Given the description of an element on the screen output the (x, y) to click on. 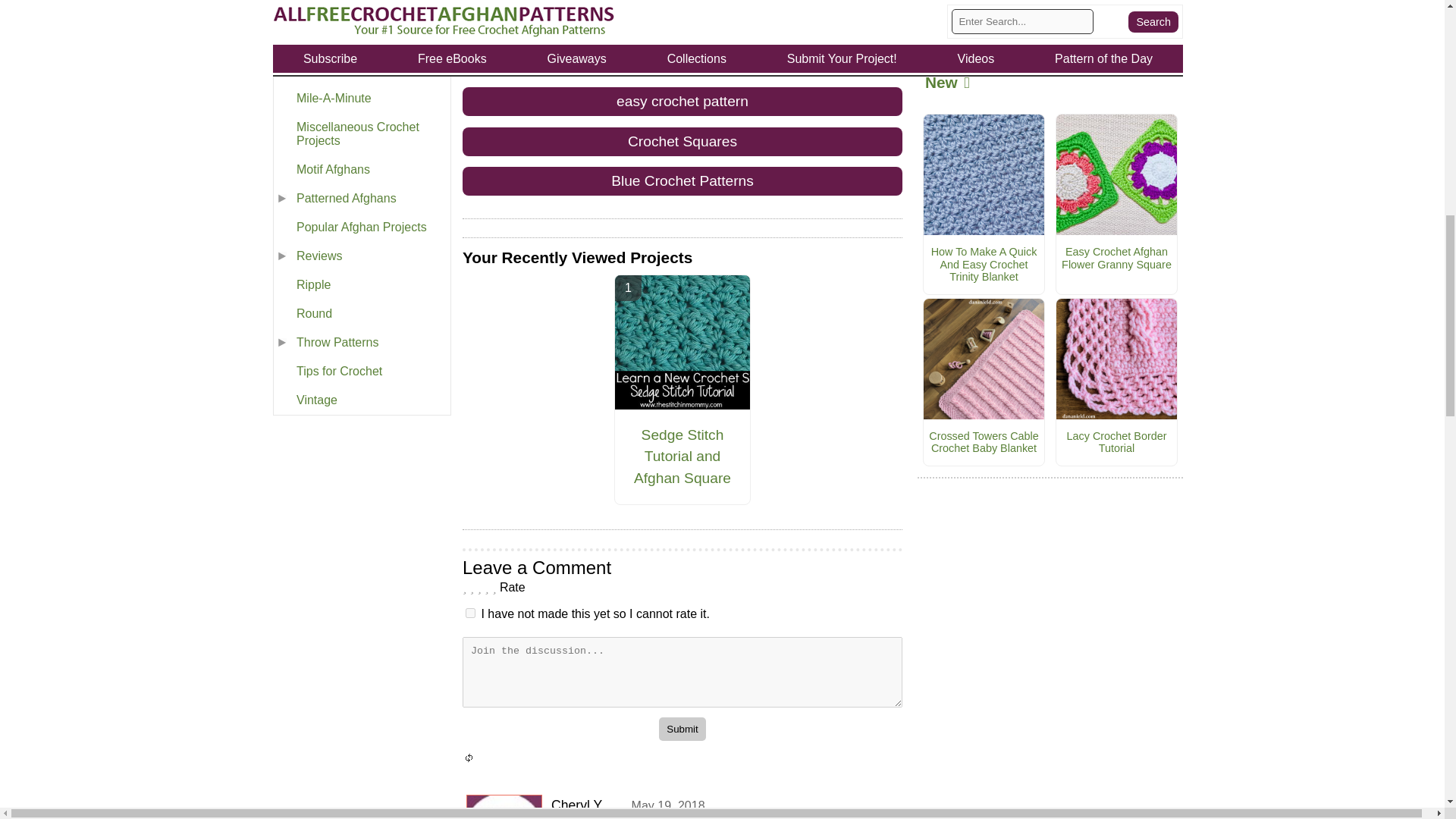
1 (470, 613)
Submit (681, 729)
